Given the description of an element on the screen output the (x, y) to click on. 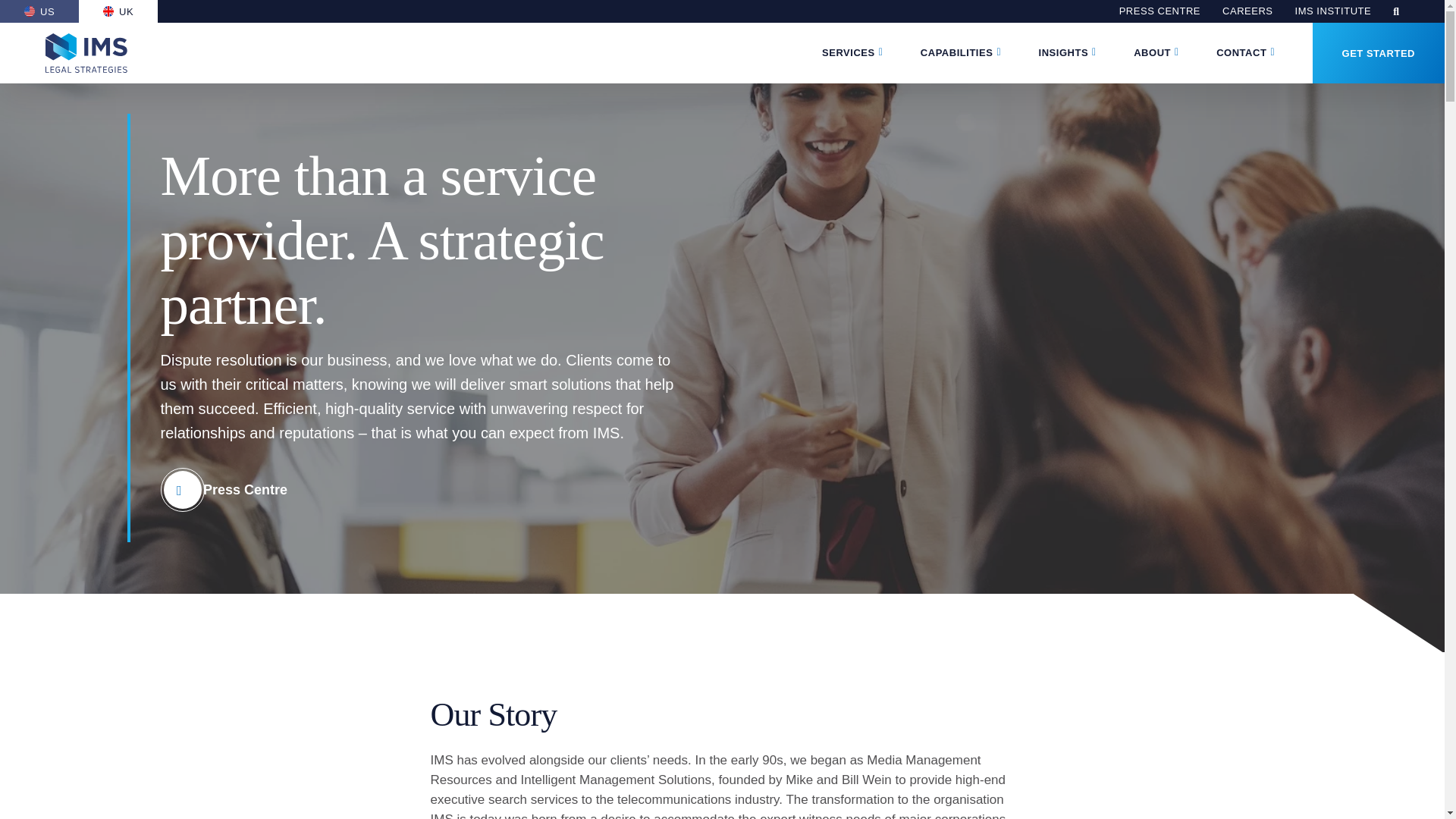
CAREERS (1247, 10)
PRESS CENTRE (1159, 10)
UK (117, 11)
CAPABILITIES (956, 52)
